Given the description of an element on the screen output the (x, y) to click on. 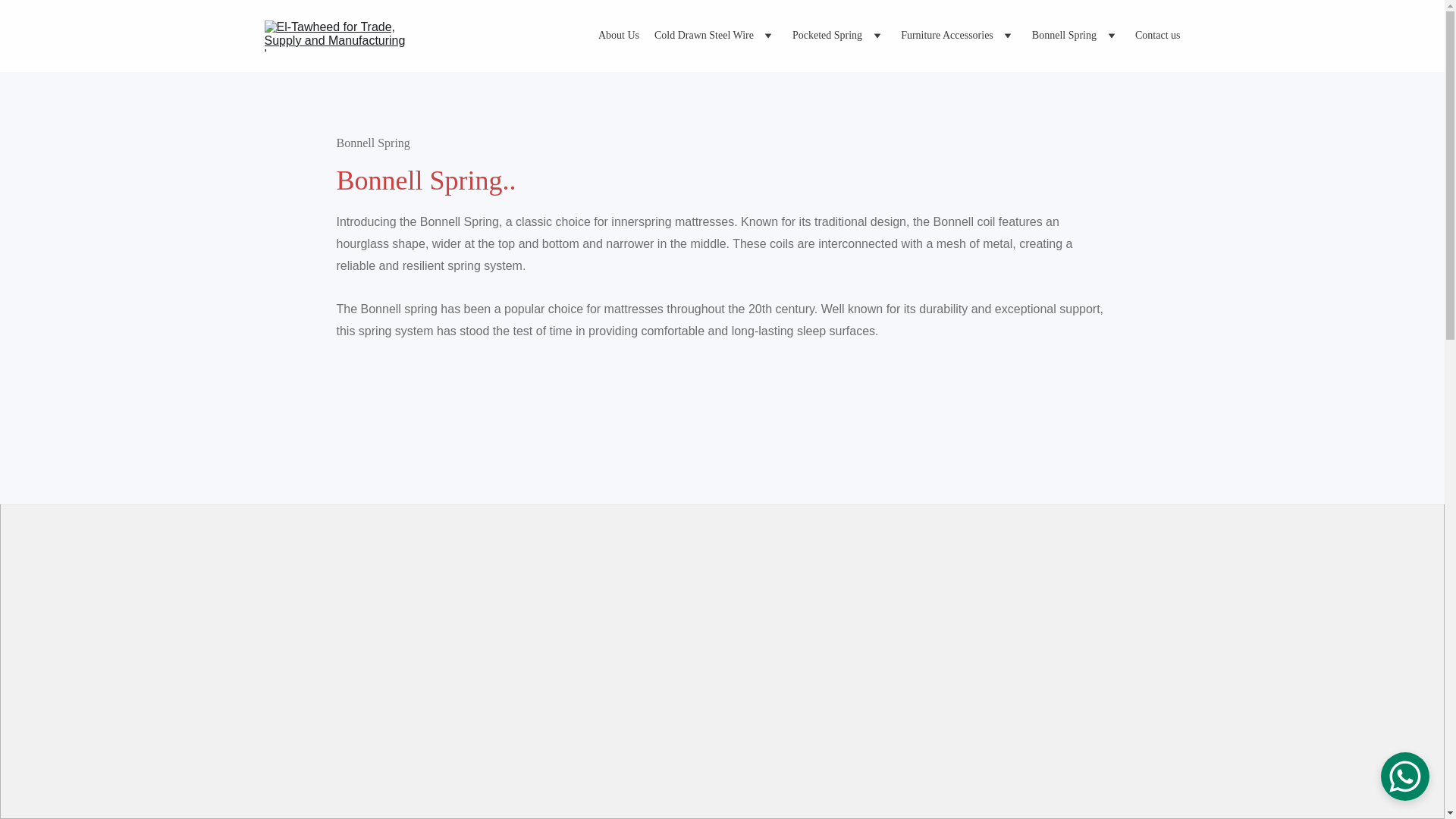
Furniture Accessories (946, 35)
Contact us (1157, 35)
Bonnell Spring (1064, 35)
Open WhatsApp (1404, 776)
About Us (618, 35)
Cold Drawn Steel Wire (703, 35)
Pocketed Spring (826, 35)
